Given the description of an element on the screen output the (x, y) to click on. 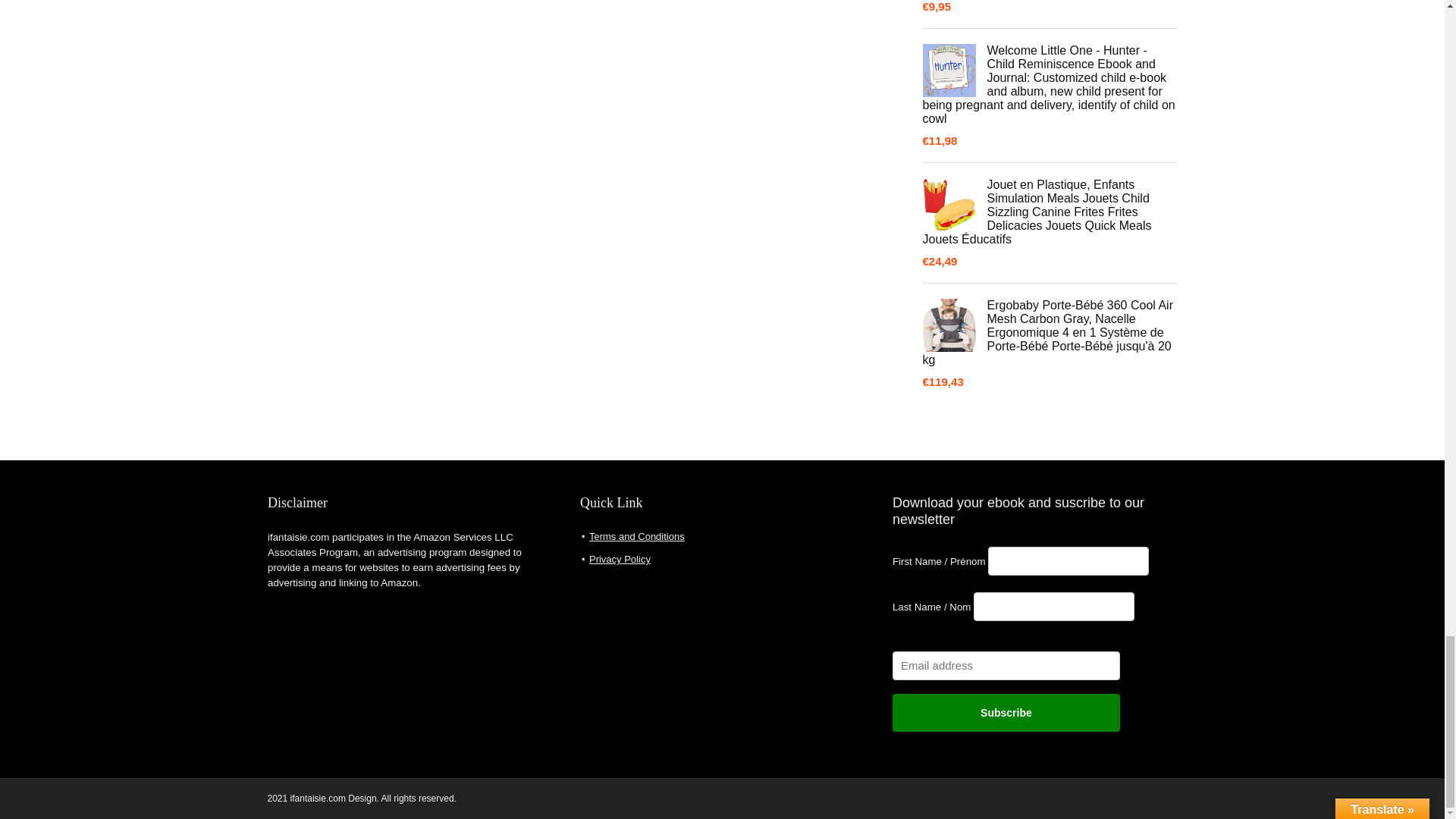
Subscribe (1005, 712)
